Given the description of an element on the screen output the (x, y) to click on. 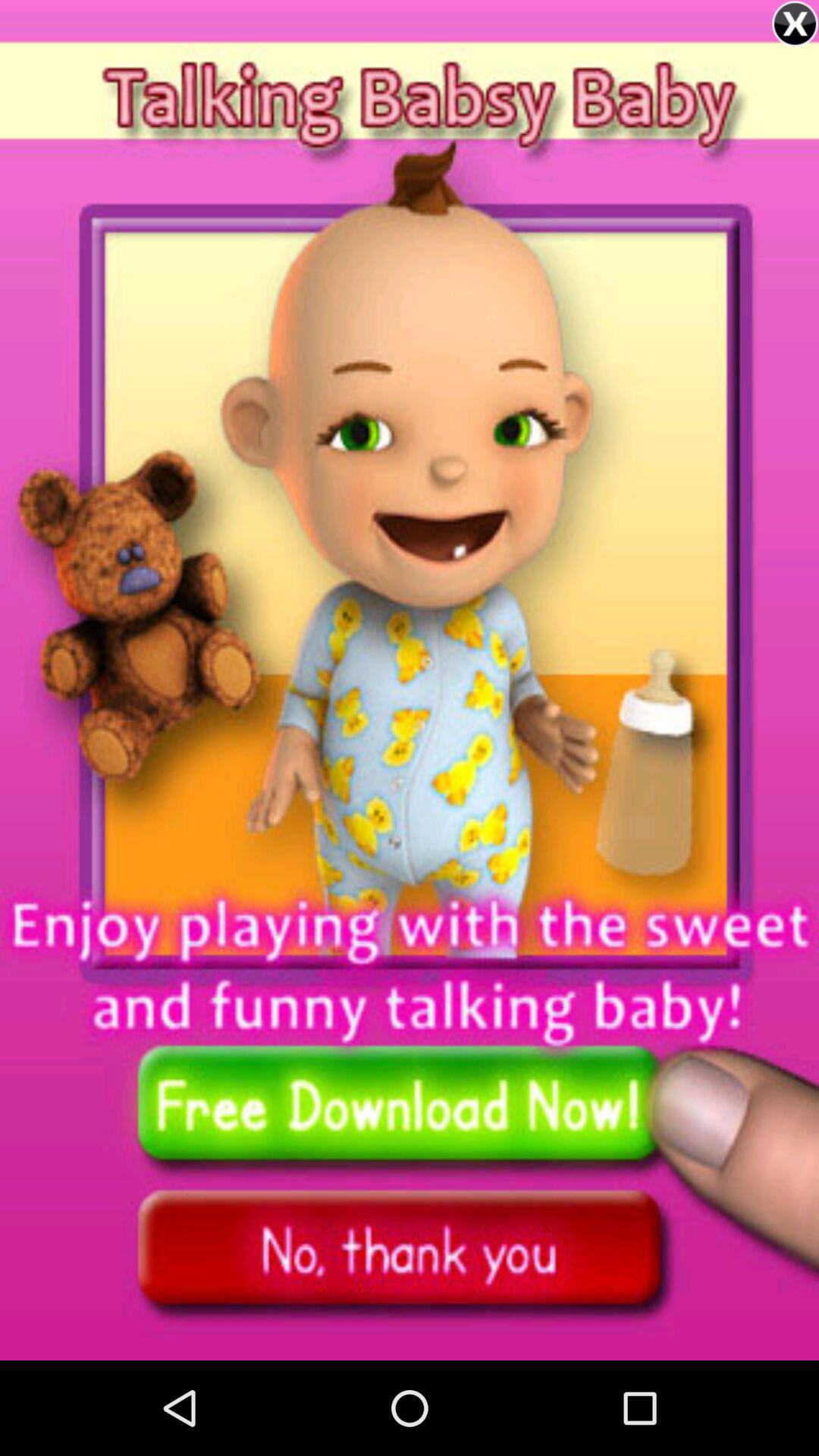
close option (795, 23)
